Given the description of an element on the screen output the (x, y) to click on. 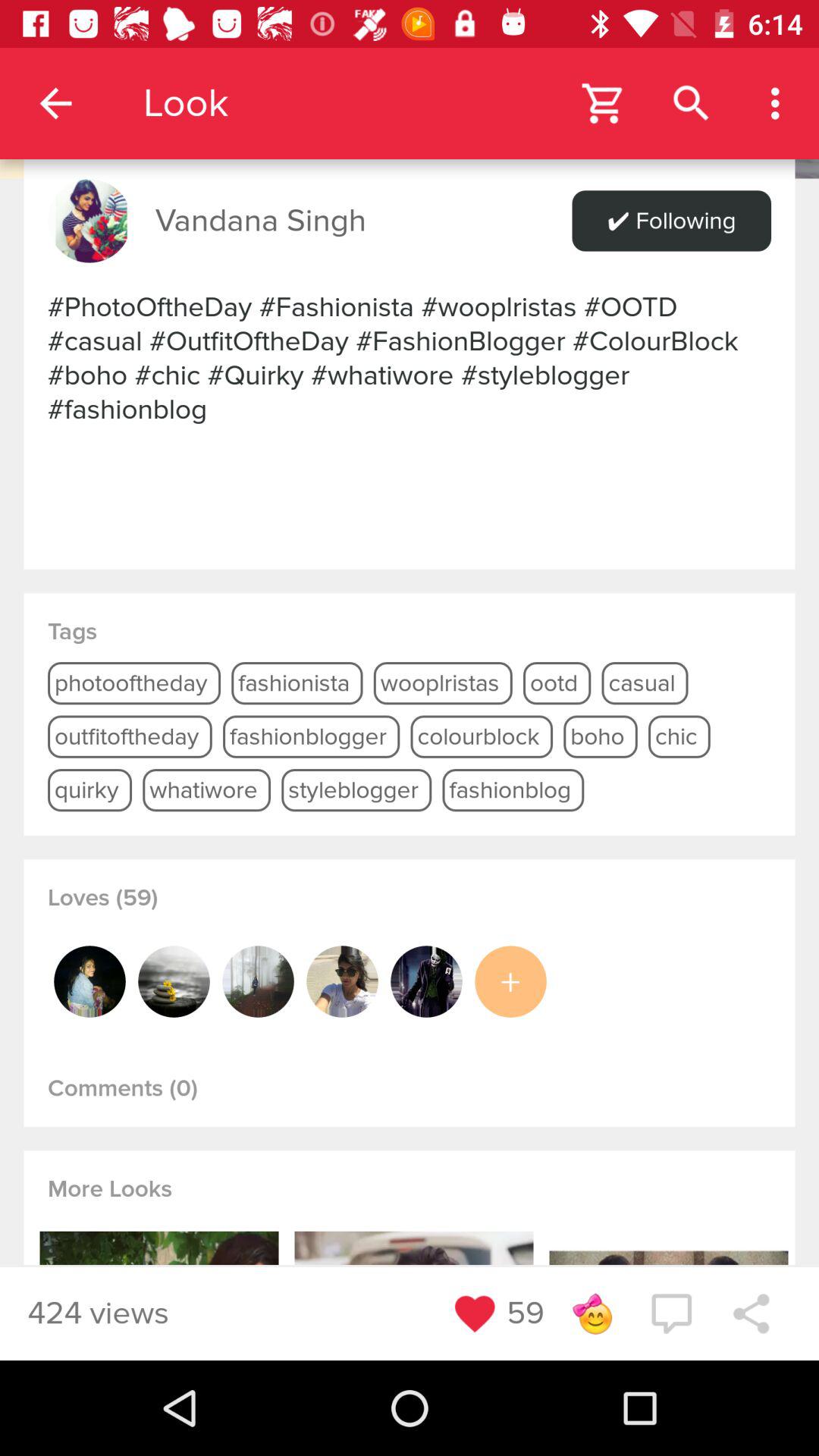
select the smiley (591, 1313)
